Given the description of an element on the screen output the (x, y) to click on. 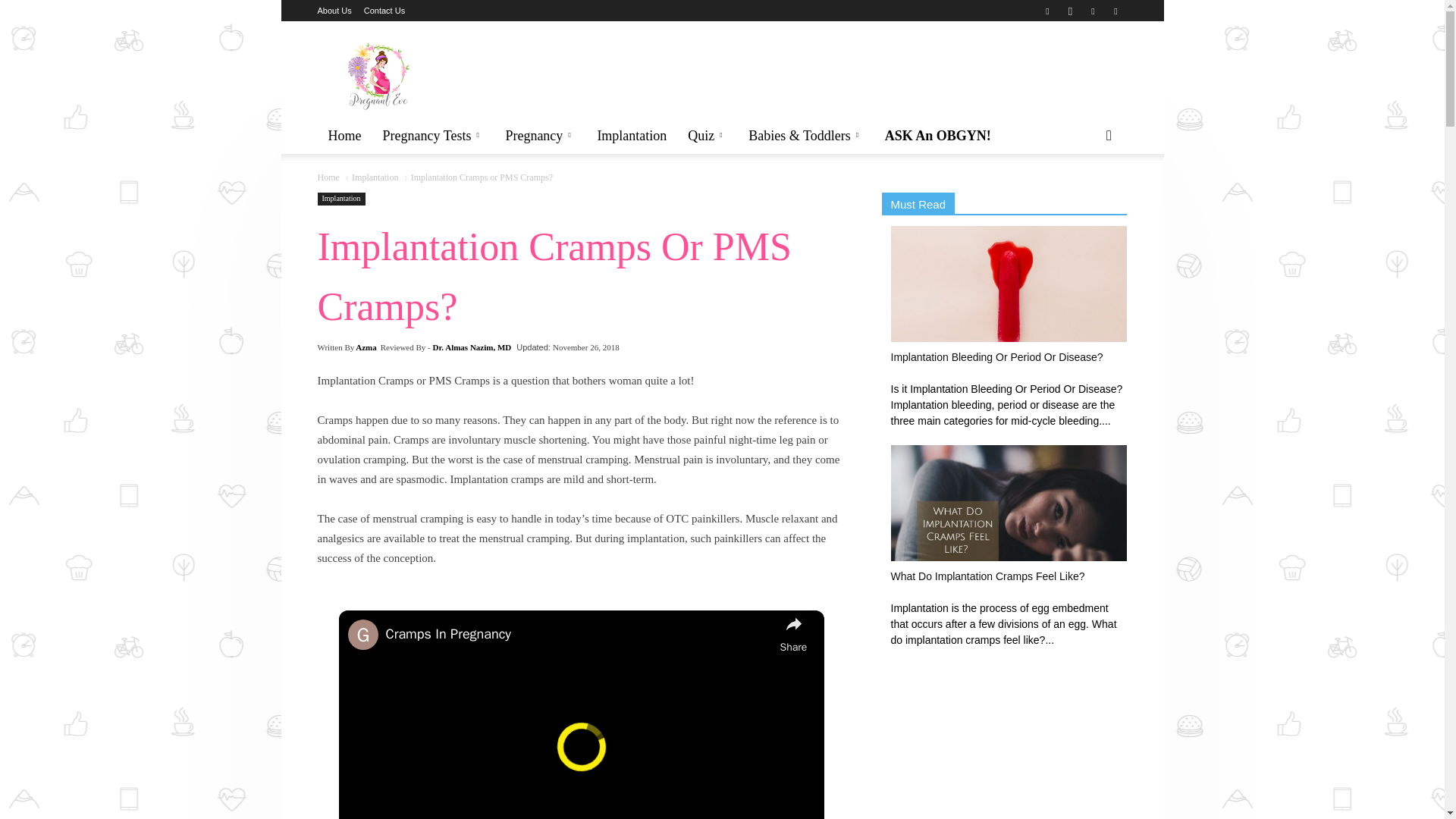
Instagram (1069, 10)
Twitter (1114, 10)
Pinterest (1092, 10)
Contact Us (384, 10)
Facebook (1046, 10)
View all posts in Implantation (374, 176)
About Us (333, 10)
